Given the description of an element on the screen output the (x, y) to click on. 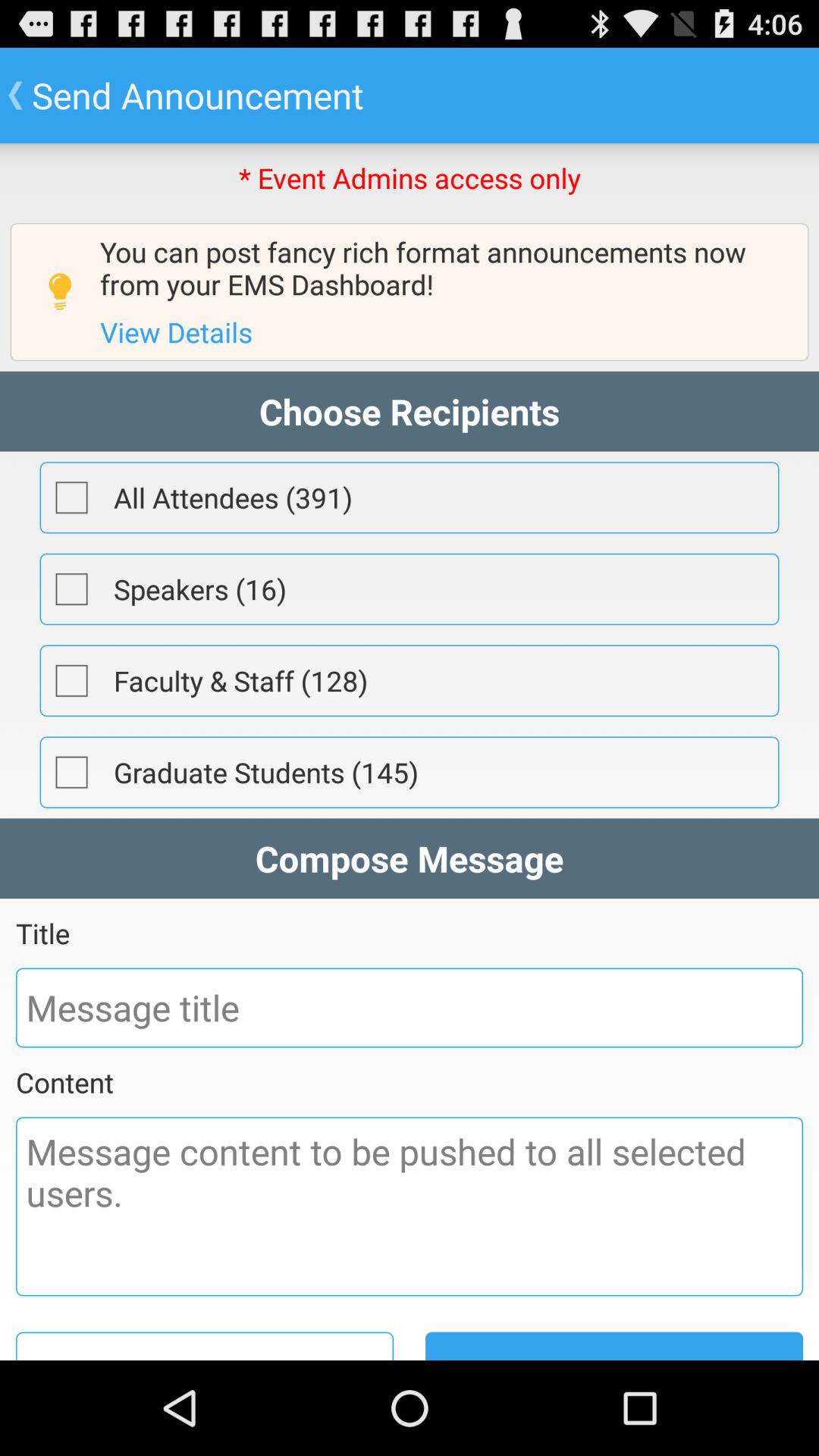
pick (71, 497)
